Given the description of an element on the screen output the (x, y) to click on. 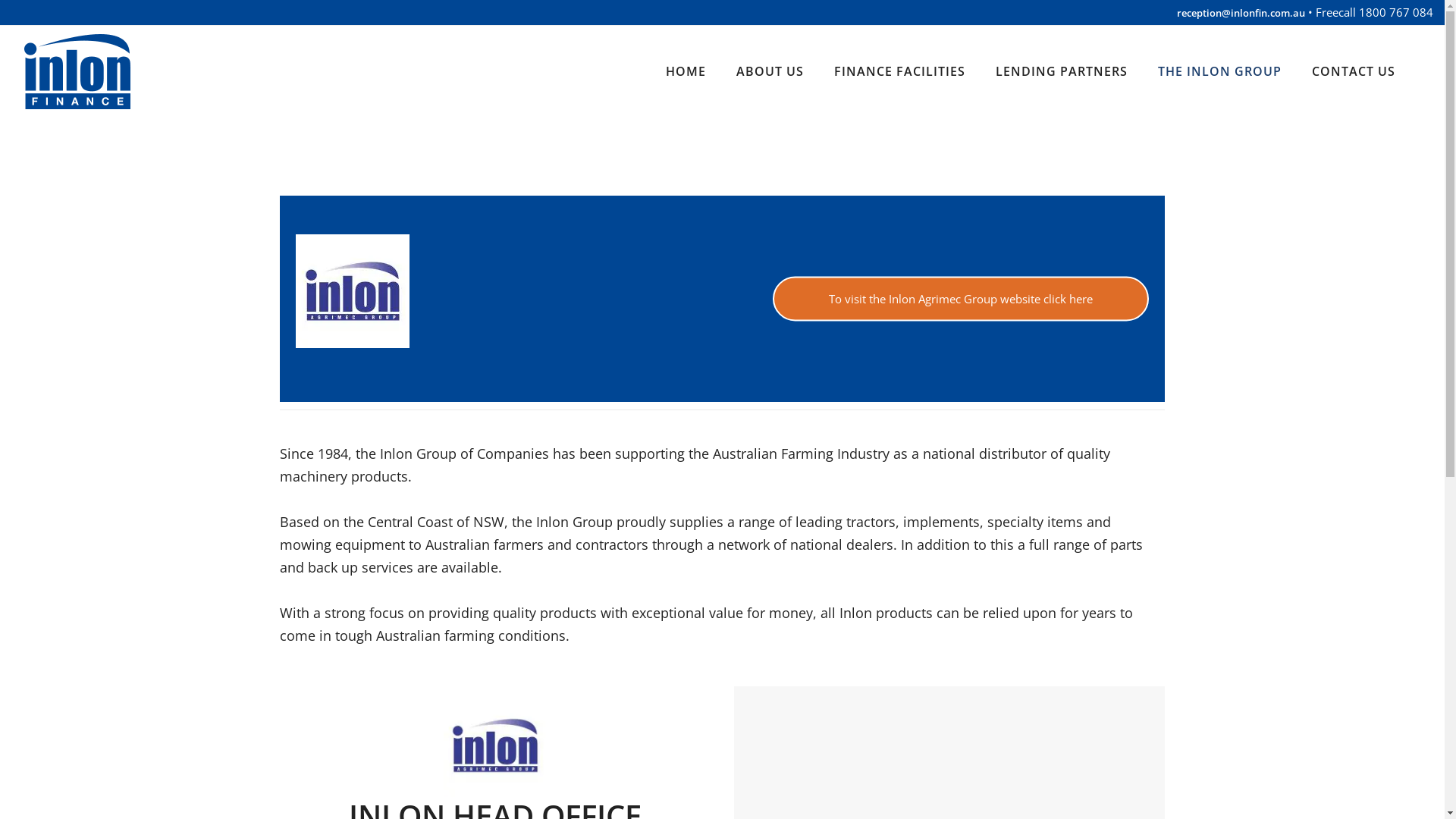
HOME Element type: text (685, 70)
THE INLON GROUP Element type: text (1219, 70)
reception@inlonfin.com.au Element type: text (1240, 12)
To visit the Inlon Agrimec Group website click here Element type: text (960, 298)
ABOUT US Element type: text (770, 70)
LENDING PARTNERS Element type: text (1061, 70)
FINANCE FACILITIES Element type: text (899, 70)
CONTACT US Element type: text (1353, 70)
